Given the description of an element on the screen output the (x, y) to click on. 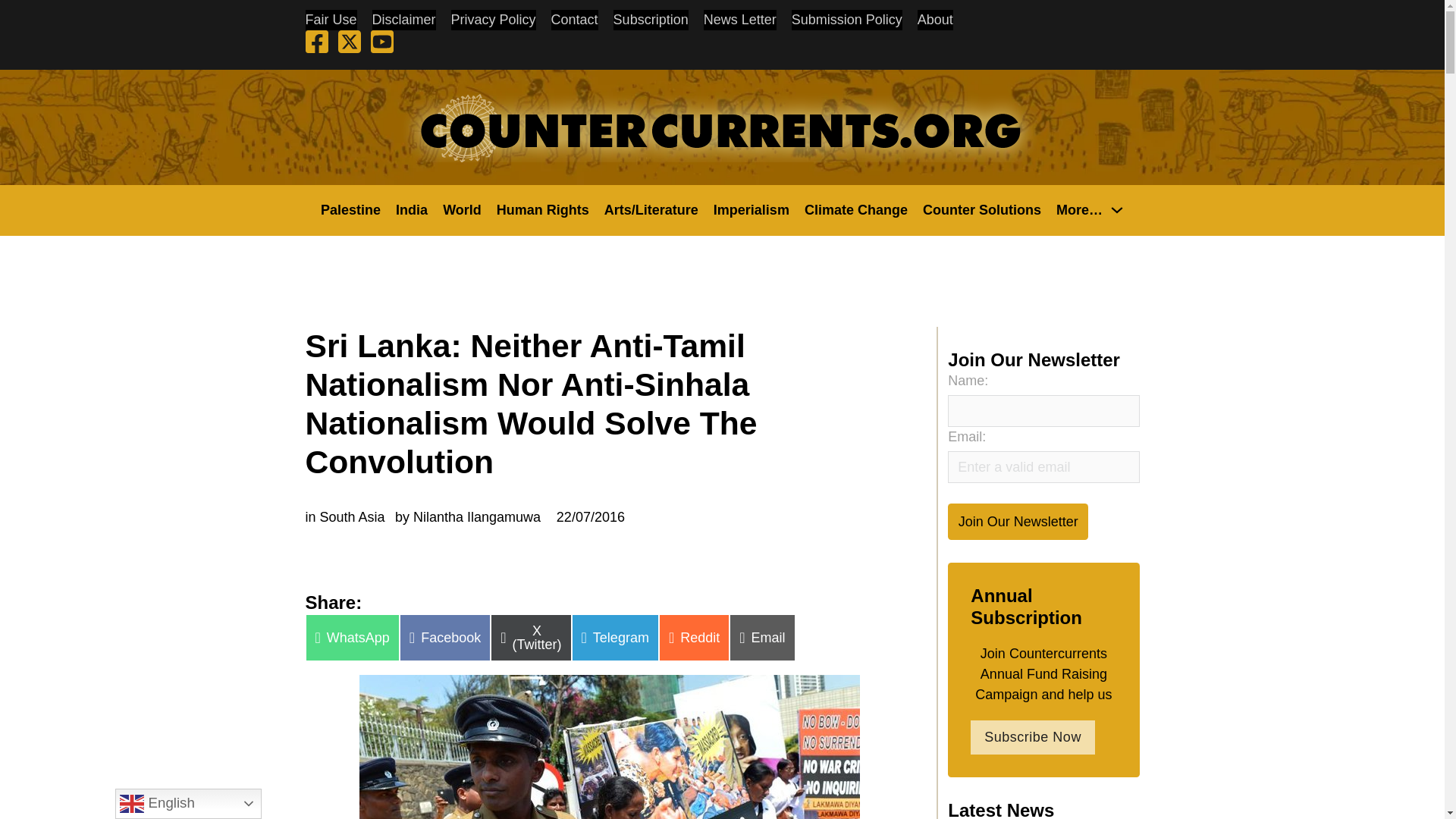
World (461, 209)
Disclaimer (403, 19)
India (412, 209)
Human Rights (542, 209)
Privacy Policy (493, 19)
Submission Policy (847, 19)
About (935, 19)
News Letter (739, 19)
Subscription (650, 19)
Contact (574, 19)
